Given the description of an element on the screen output the (x, y) to click on. 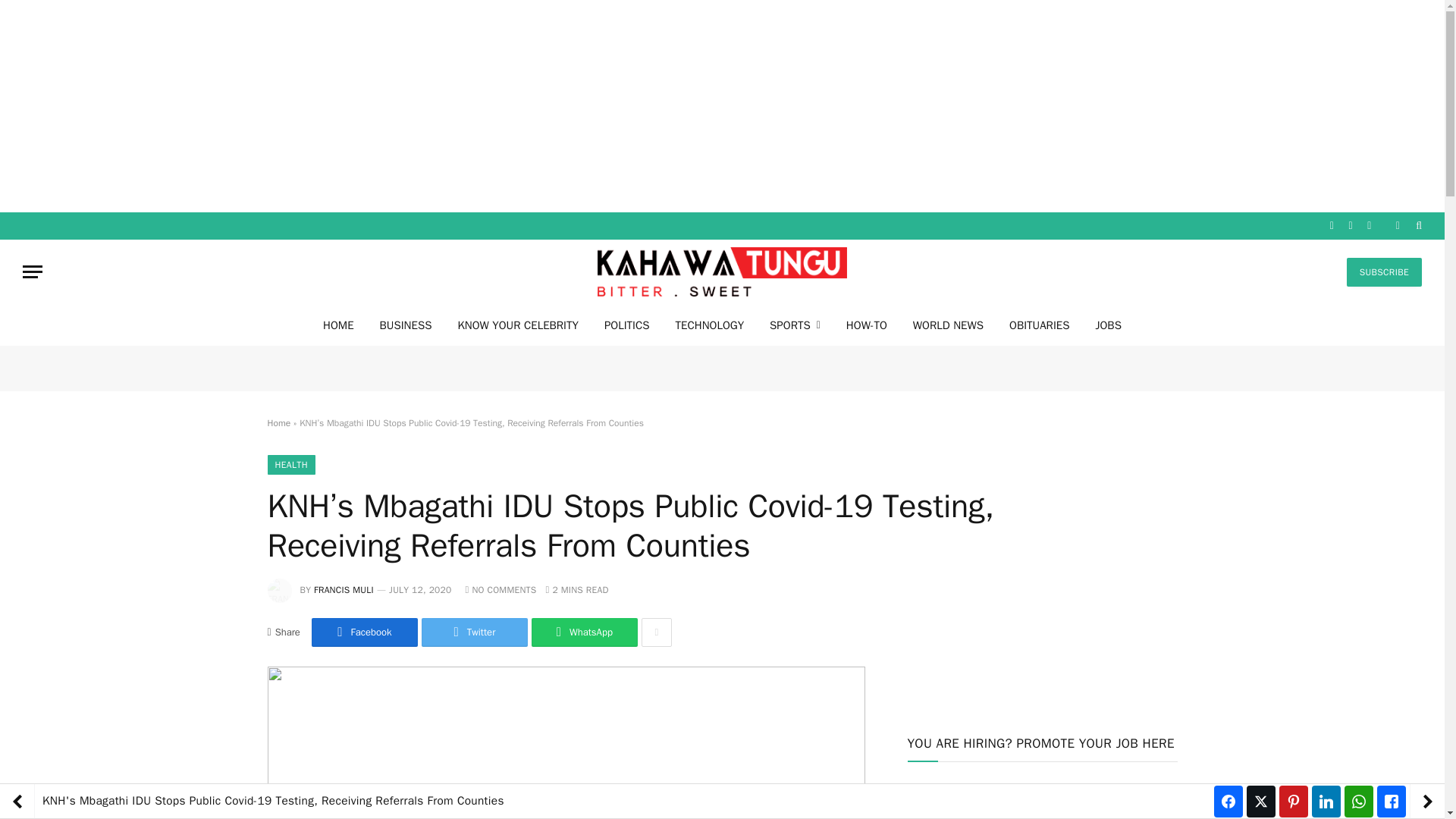
KNOW YOUR CELEBRITY (517, 324)
WORLD NEWS (947, 324)
SPORTS (794, 324)
HOME (338, 324)
Share on WhatsApp (584, 632)
HOW-TO (865, 324)
HEALTH (290, 465)
BUSINESS (405, 324)
FRANCIS MULI (344, 589)
Share on Facebook (364, 632)
